Given the description of an element on the screen output the (x, y) to click on. 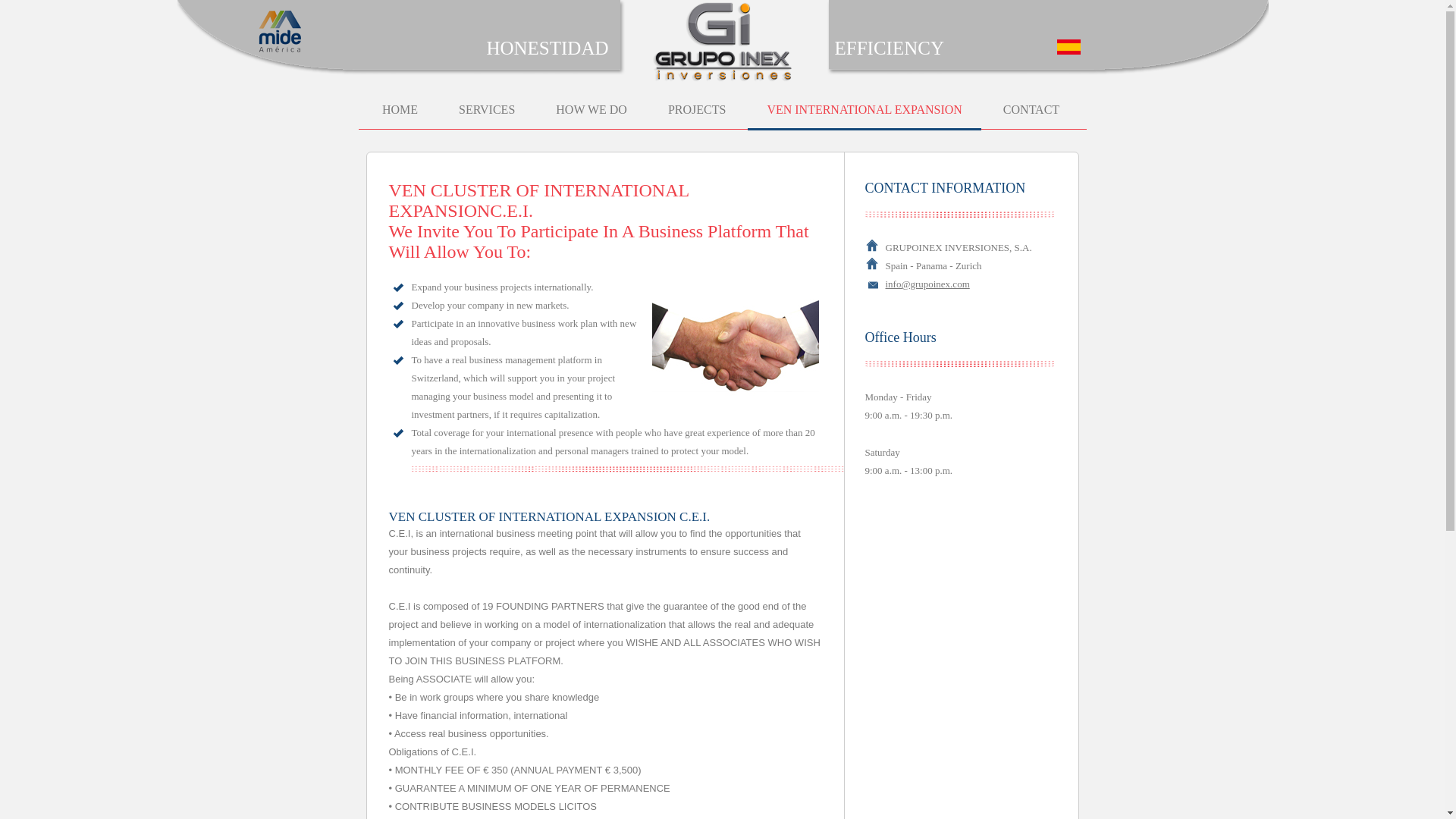
HOME (399, 116)
SERVICES (486, 116)
HOW WE DO (591, 116)
CONTACT (1031, 116)
VEN INTERNATIONAL EXPANSION (863, 116)
PROJECTS (696, 116)
